Given the description of an element on the screen output the (x, y) to click on. 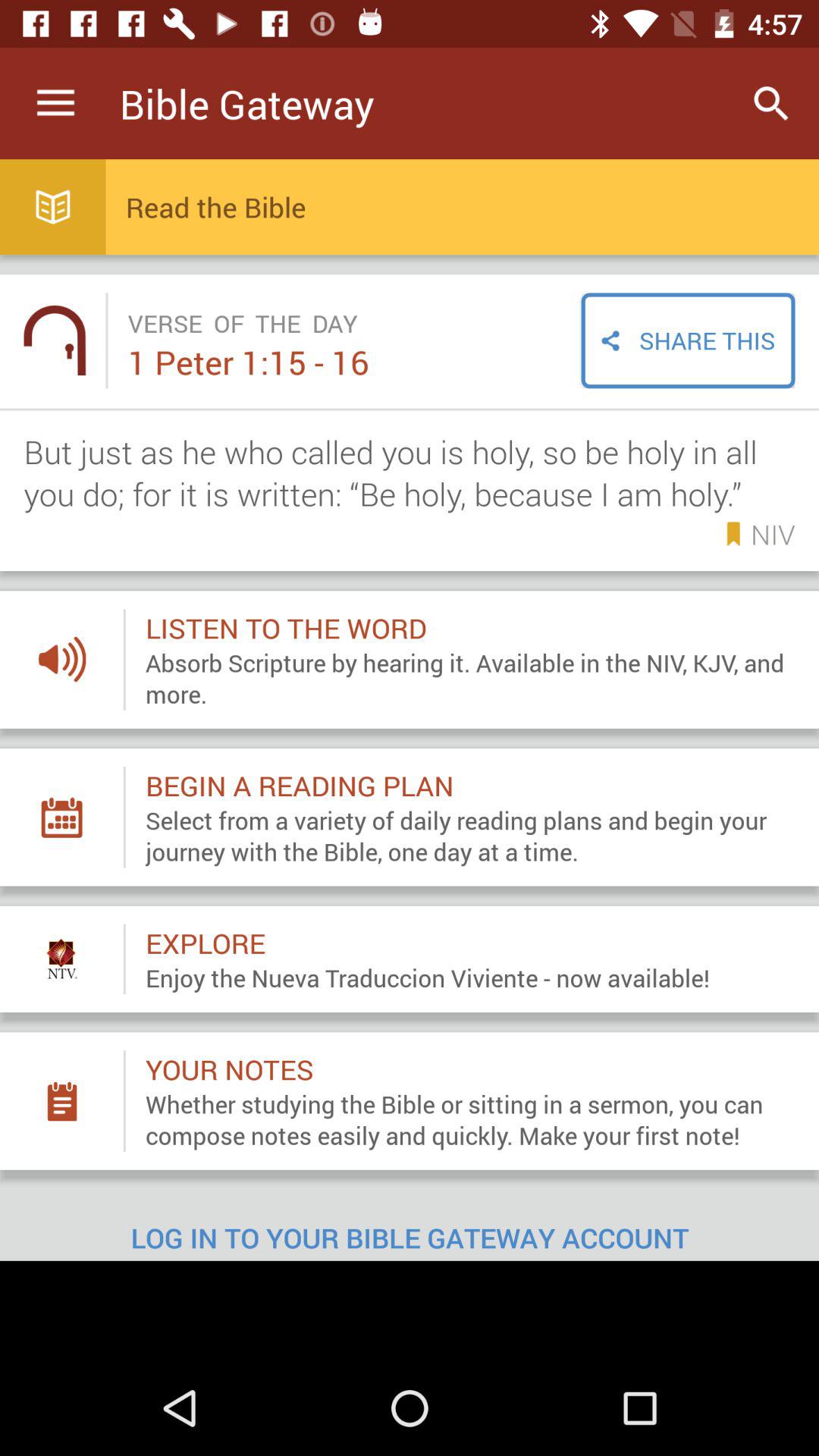
turn on the item above the read the bible item (771, 103)
